Given the description of an element on the screen output the (x, y) to click on. 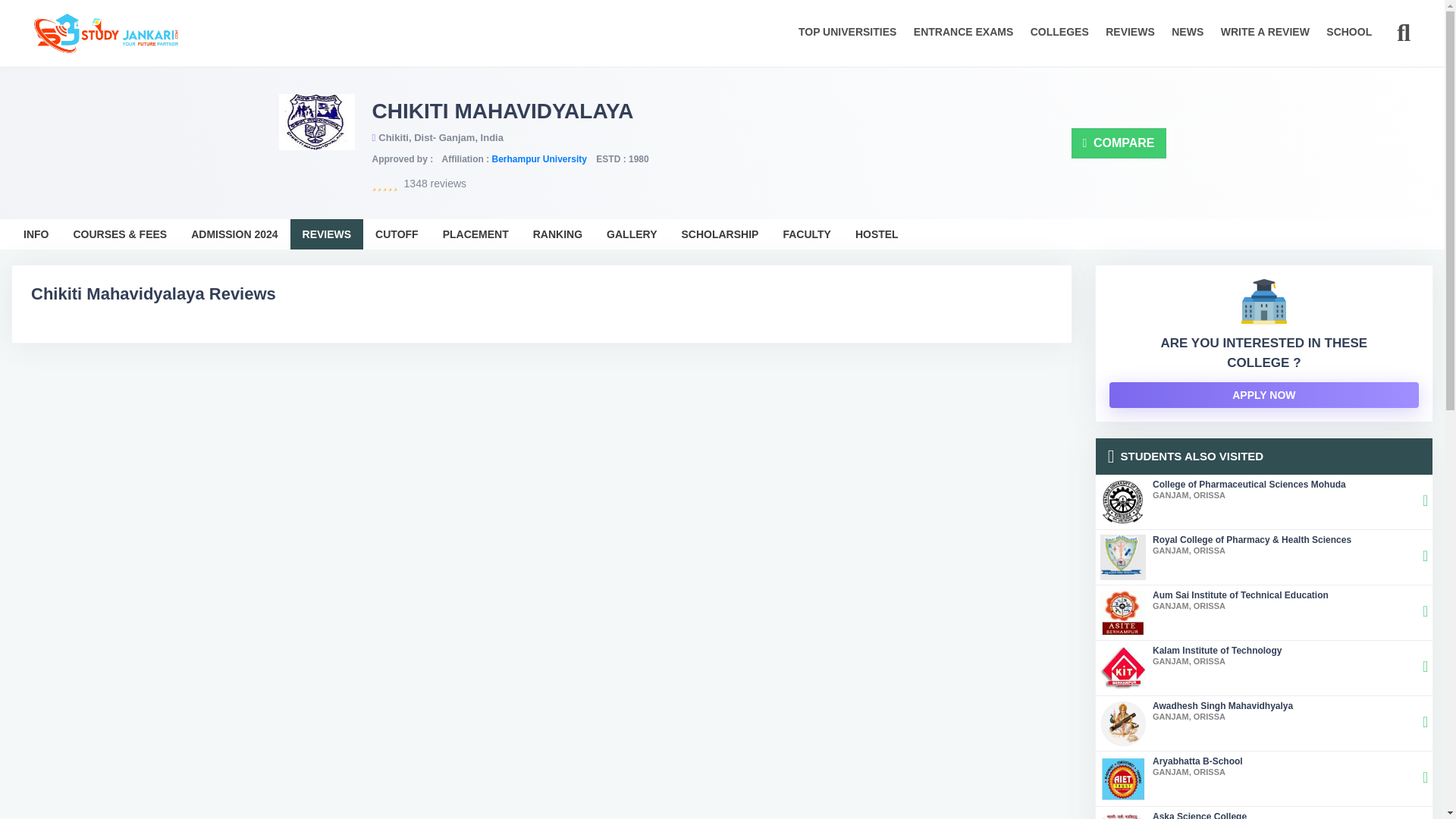
Berhampur University (539, 158)
SCHOOL (1348, 42)
COMPARE (1118, 142)
APPLY NOW (1264, 612)
WRITE A REVIEW (1263, 394)
REVIEWS (1264, 42)
FACULTY (326, 234)
PLACEMENT (806, 234)
HOSTEL (475, 234)
GALLERY (877, 234)
COLLEGES (1264, 778)
TOP UNIVERSITIES (631, 234)
